Given the description of an element on the screen output the (x, y) to click on. 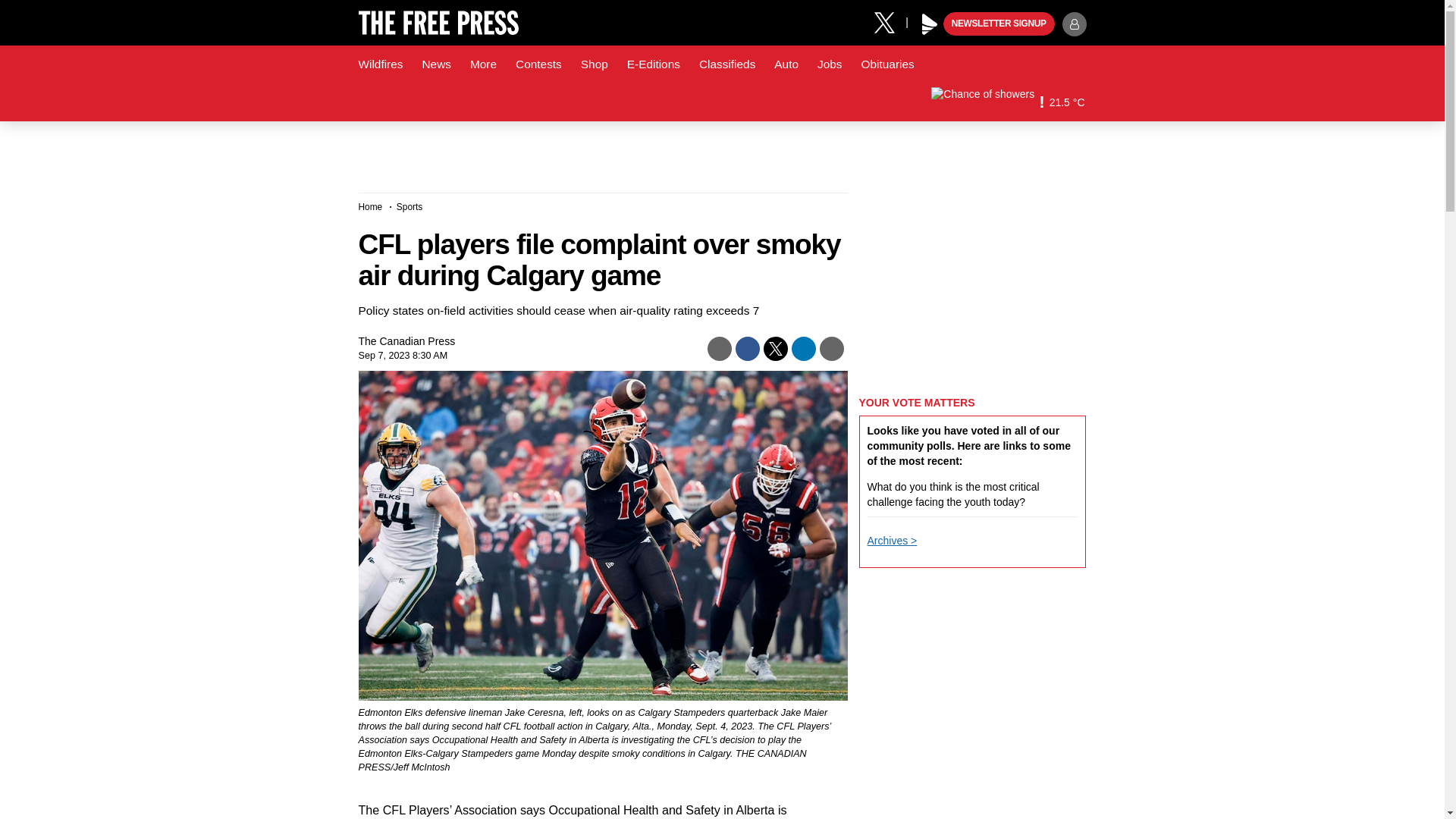
Wildfires (380, 64)
X (889, 21)
Black Press Media (929, 24)
NEWSLETTER SIGNUP (998, 24)
News (435, 64)
Play (929, 24)
